Given the description of an element on the screen output the (x, y) to click on. 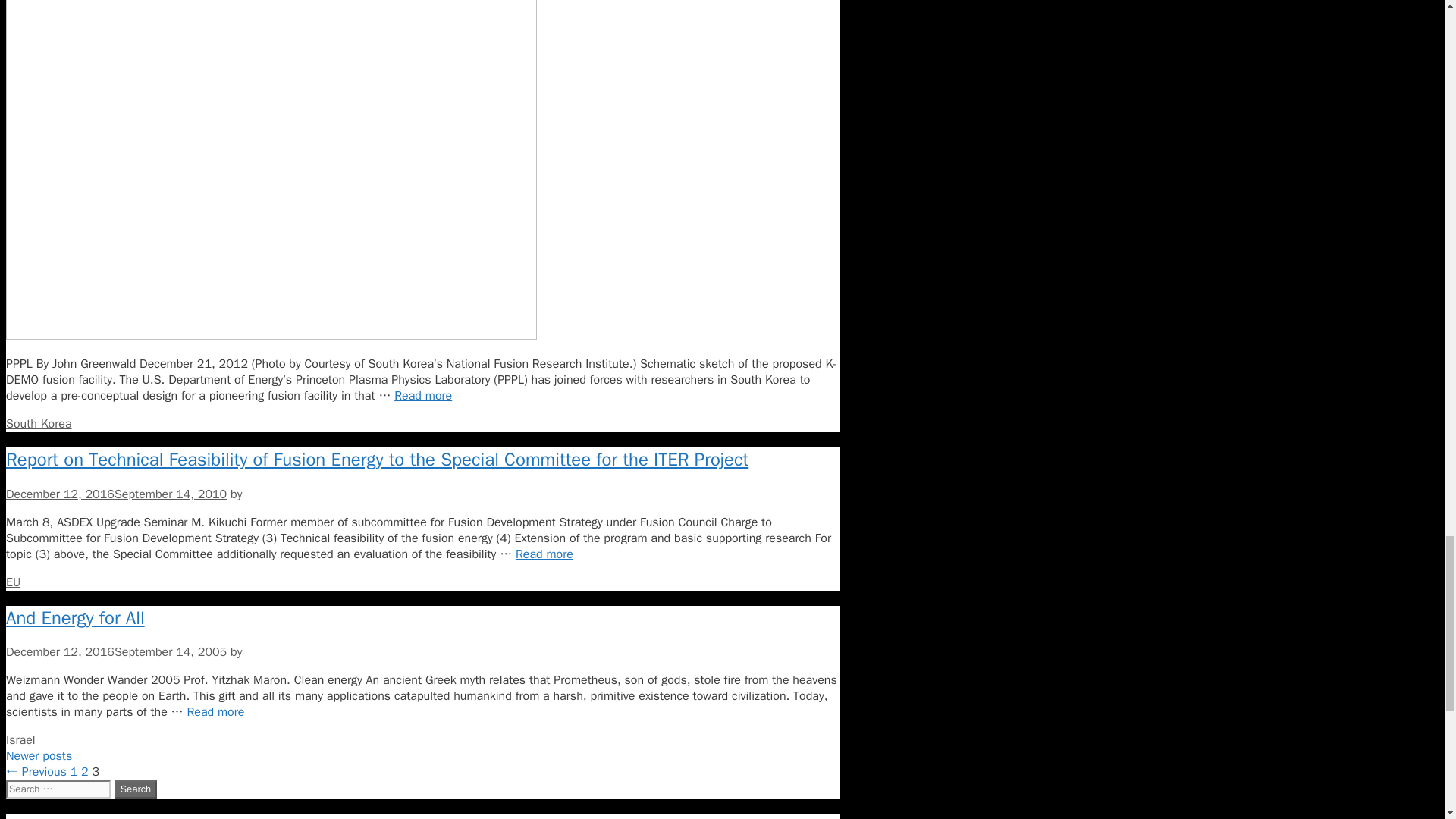
Search (136, 789)
Search (136, 789)
